Given the description of an element on the screen output the (x, y) to click on. 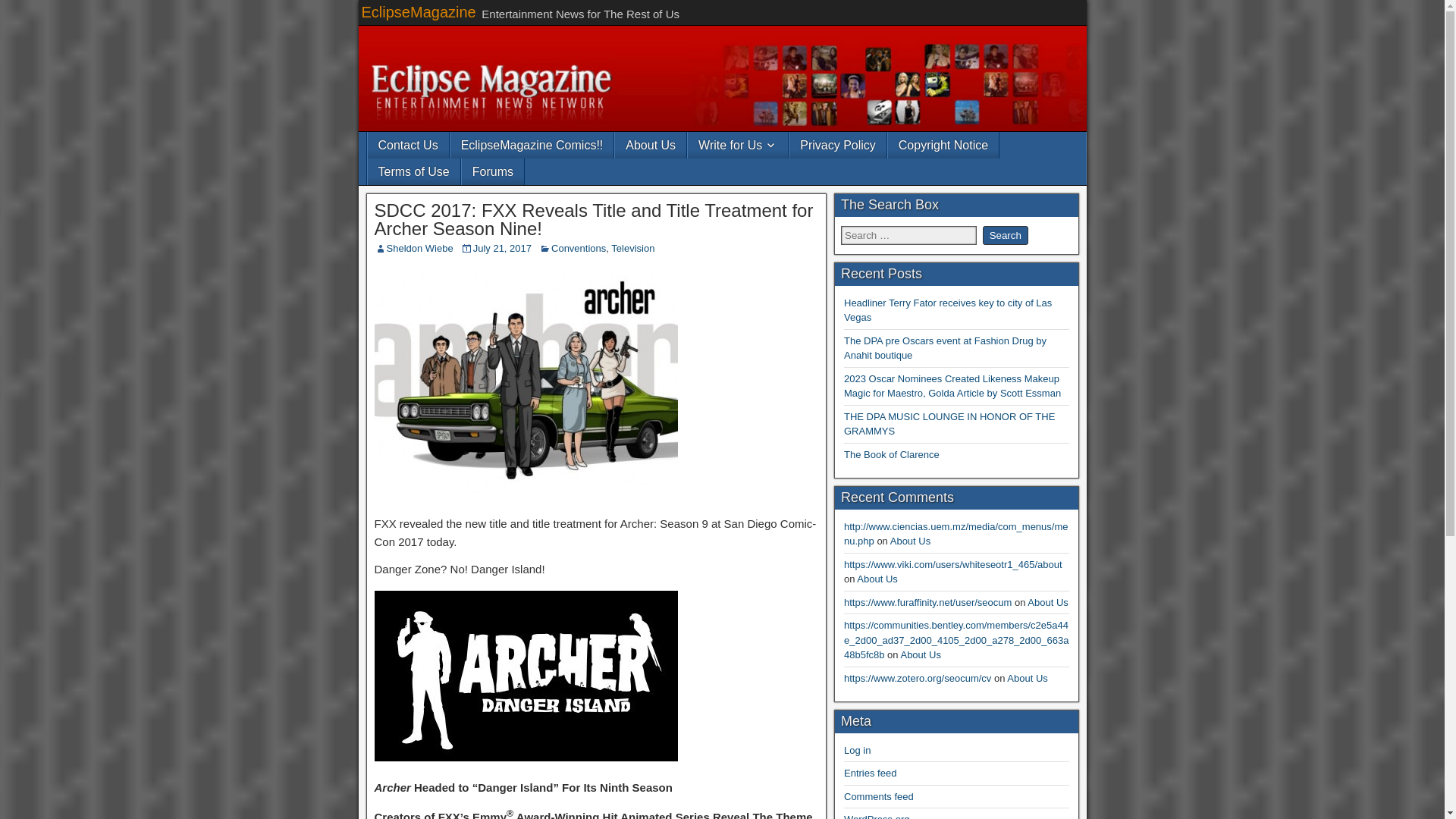
THE DPA MUSIC LOUNGE IN HONOR OF THE GRAMMYS (949, 424)
Terms of Use (413, 171)
Search (1004, 235)
Search (1004, 235)
Forums (492, 171)
EclipseMagazine Comics!! (531, 144)
Television (632, 247)
The Book of Clarence (891, 454)
EclipseMagazine (418, 12)
Headliner Terry Fator receives key to city of Las Vegas (947, 310)
About Us (1047, 602)
Sheldon Wiebe (419, 247)
About Us (909, 541)
